Given the description of an element on the screen output the (x, y) to click on. 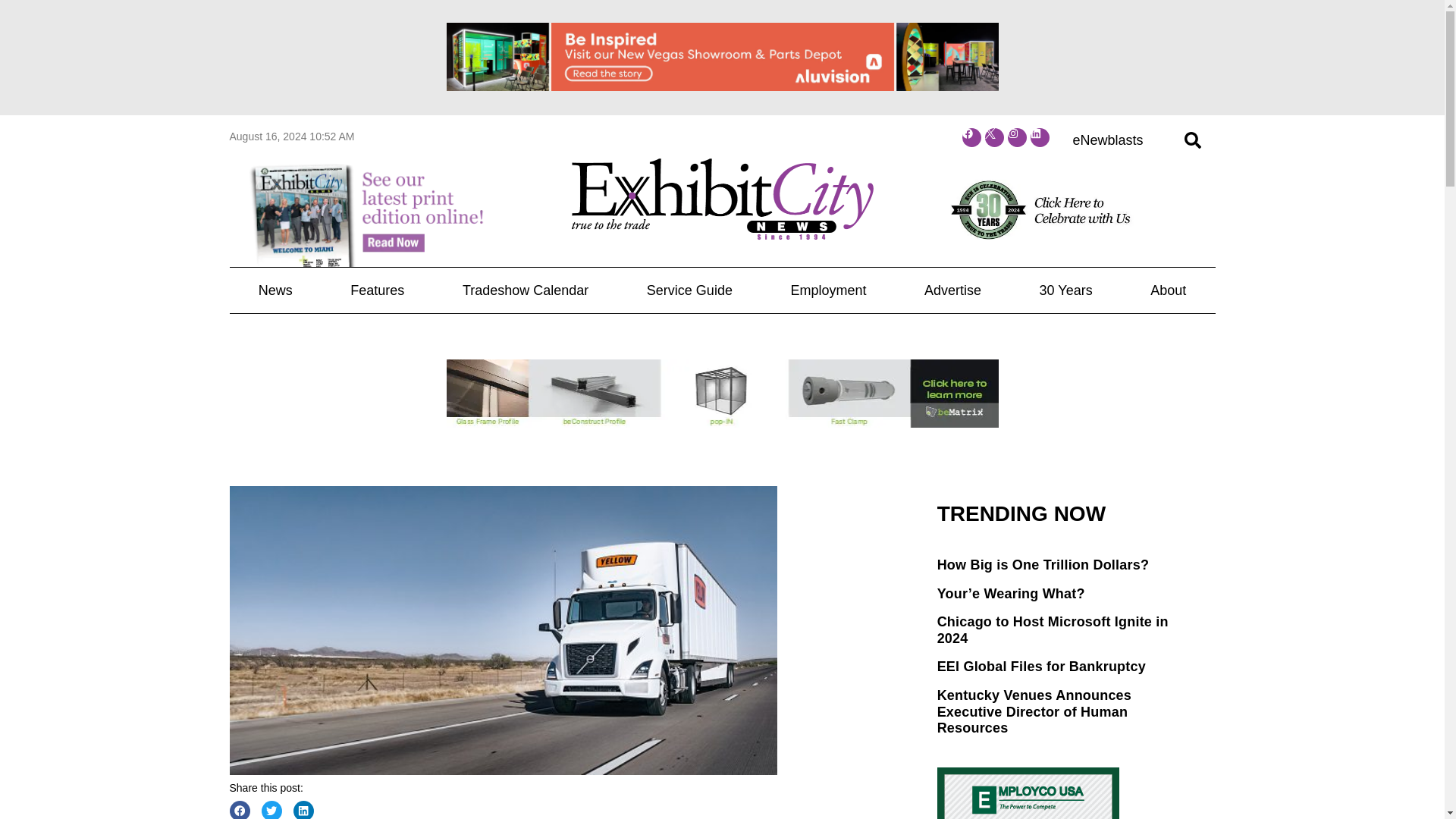
eNewblasts (1107, 140)
News (274, 289)
Features (377, 289)
